Given the description of an element on the screen output the (x, y) to click on. 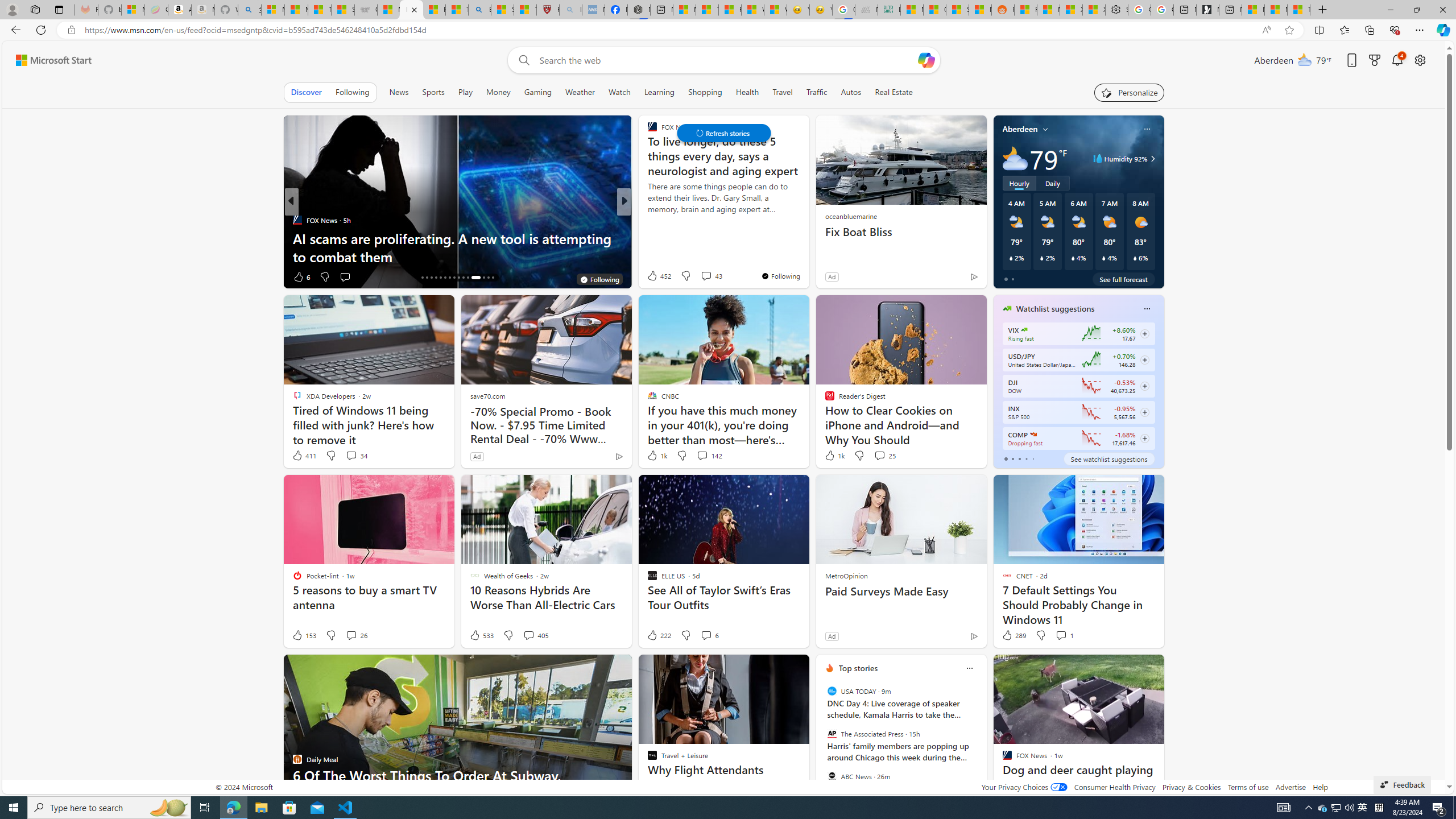
AutomationID: tab-17 (426, 277)
previous (821, 741)
289 Like (1012, 634)
View comments 405 Comment (528, 635)
AutomationID: tab-29 (488, 277)
